Given the description of an element on the screen output the (x, y) to click on. 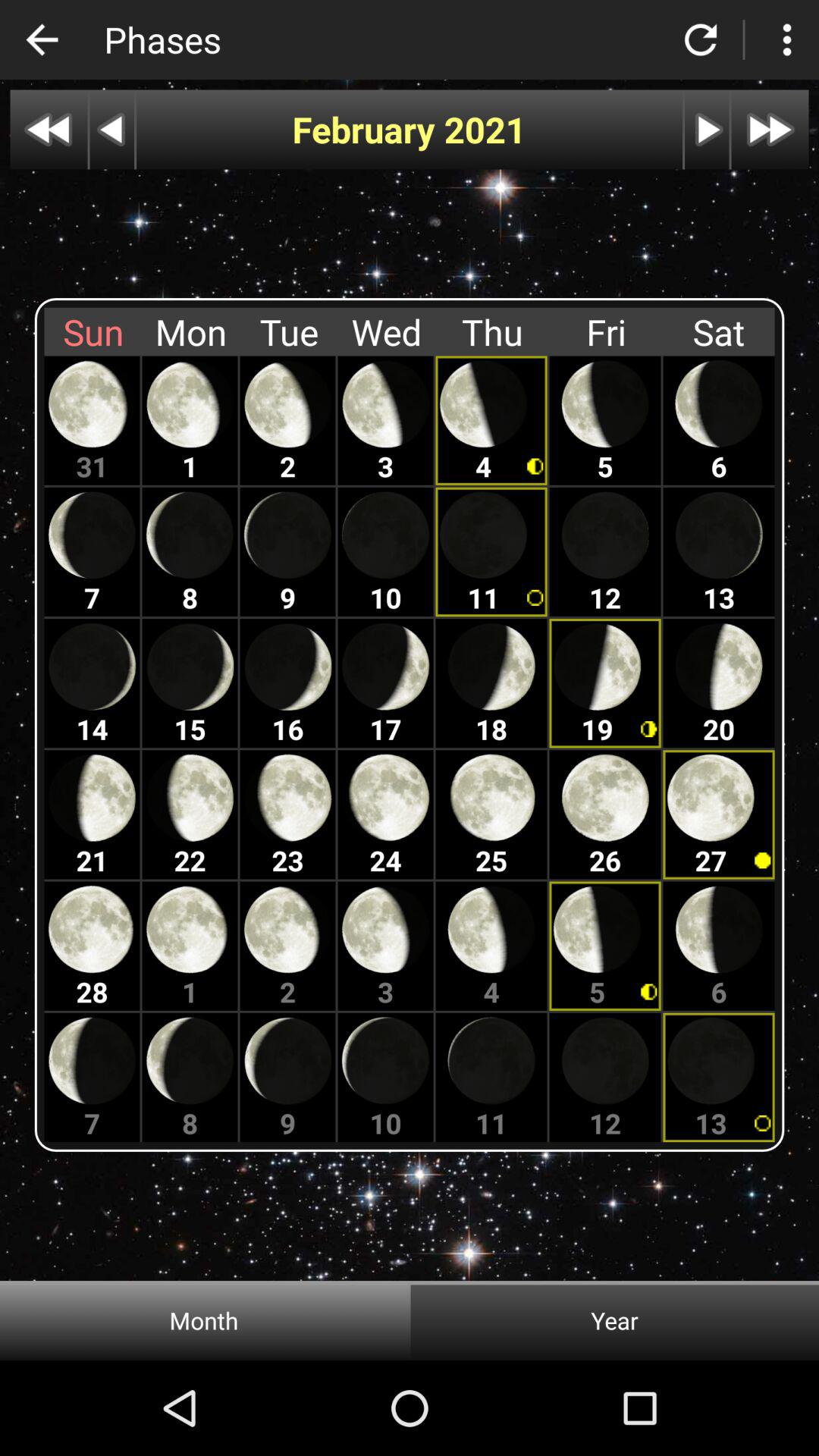
reload option (700, 39)
